Given the description of an element on the screen output the (x, y) to click on. 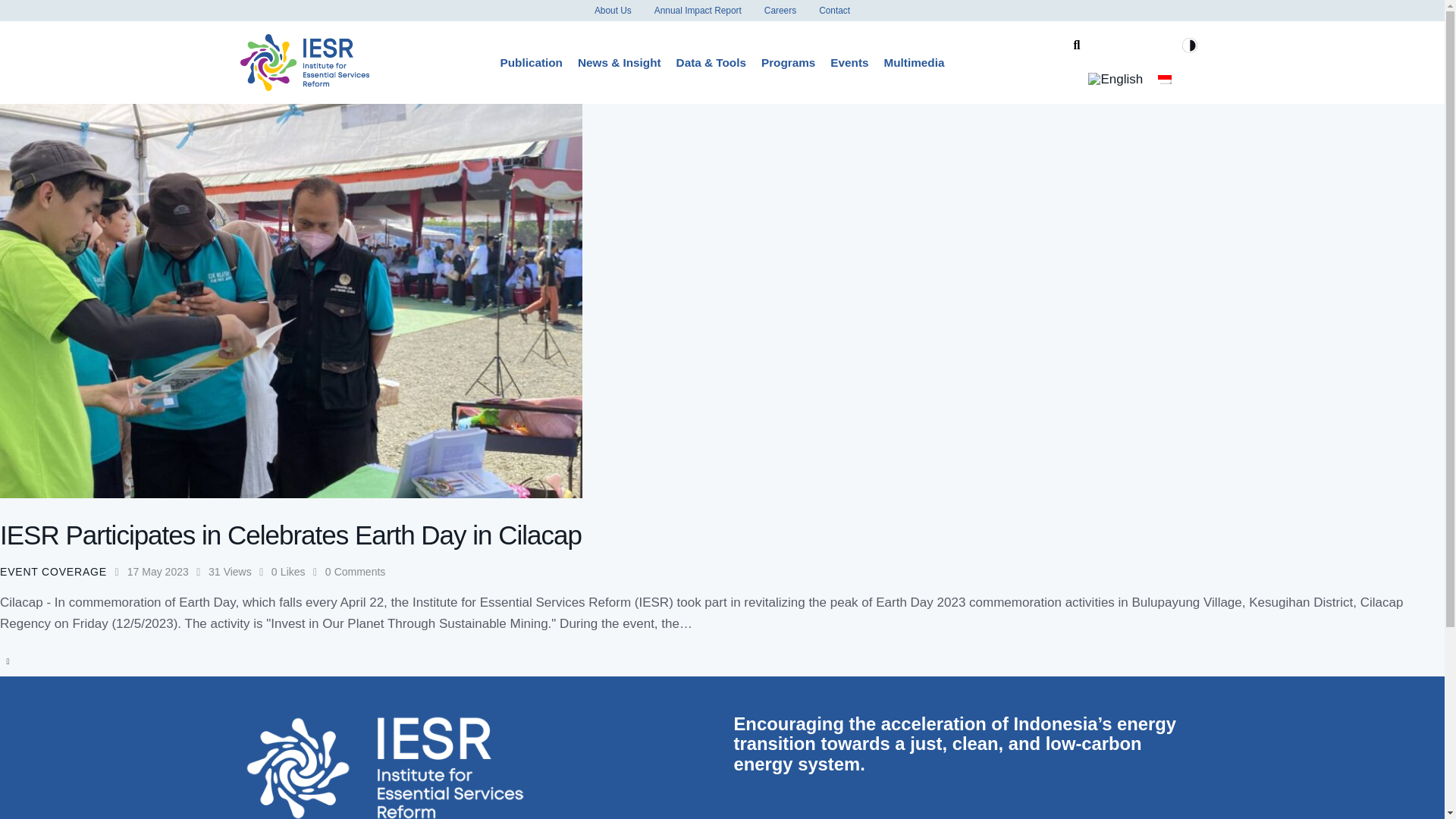
Multimedia (913, 62)
Events (849, 62)
Careers (780, 10)
Contact (834, 10)
About Us (613, 10)
Programs (788, 62)
Like (297, 571)
Publication (532, 62)
Annual Impact Report (697, 10)
